Given the description of an element on the screen output the (x, y) to click on. 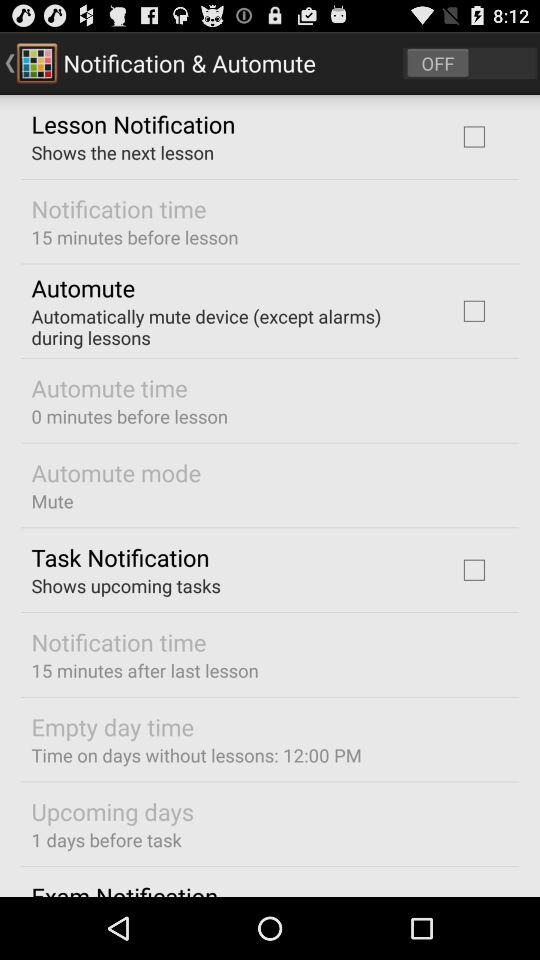
go do off (470, 62)
